Given the description of an element on the screen output the (x, y) to click on. 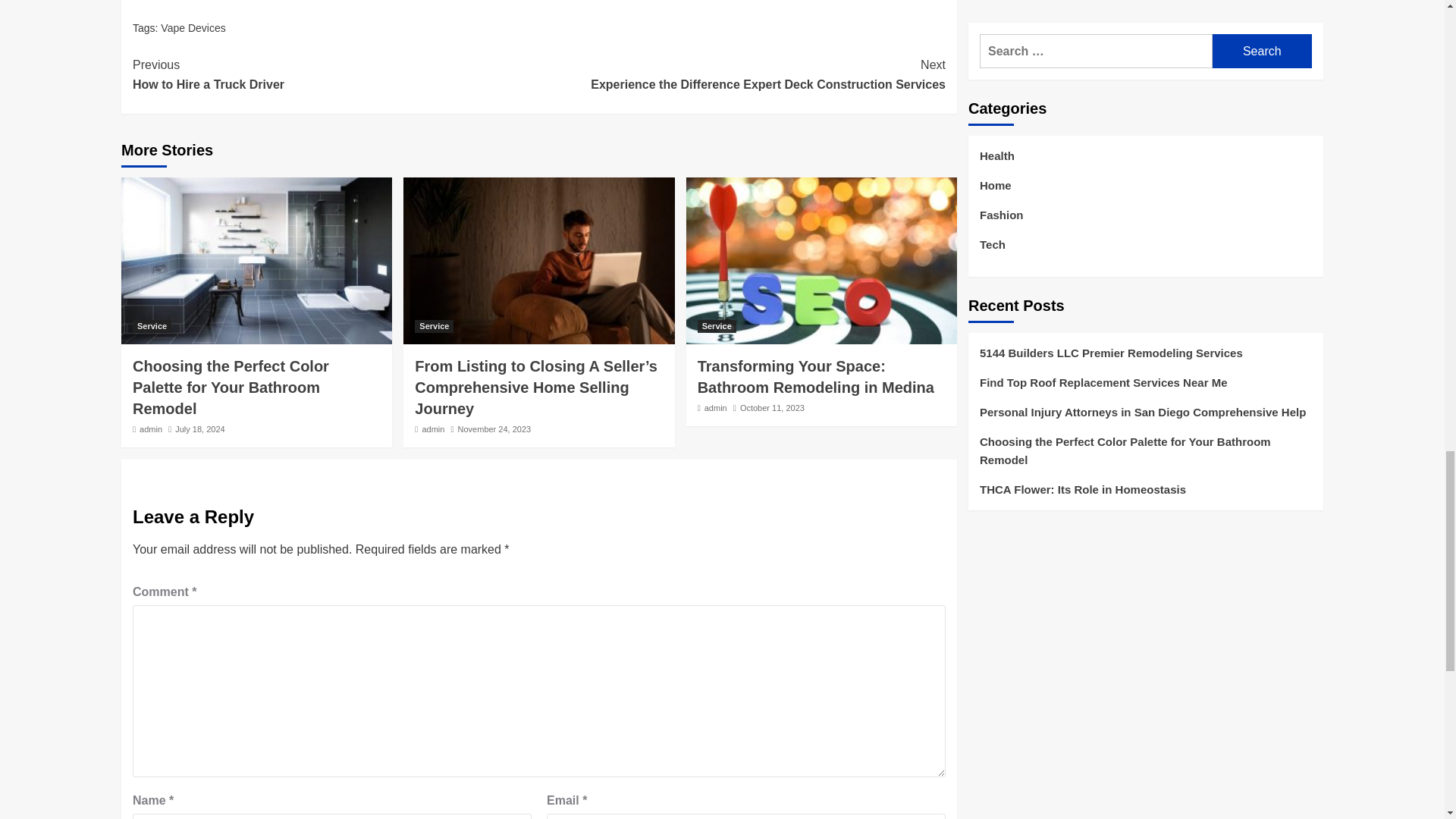
November 24, 2023 (494, 429)
admin (715, 407)
Vape Devices (192, 28)
admin (433, 429)
Transforming Your Space: Bathroom Remodeling in Medina (815, 376)
July 18, 2024 (199, 429)
Service (433, 326)
Service (716, 326)
Service (151, 326)
October 11, 2023 (772, 407)
